Given the description of an element on the screen output the (x, y) to click on. 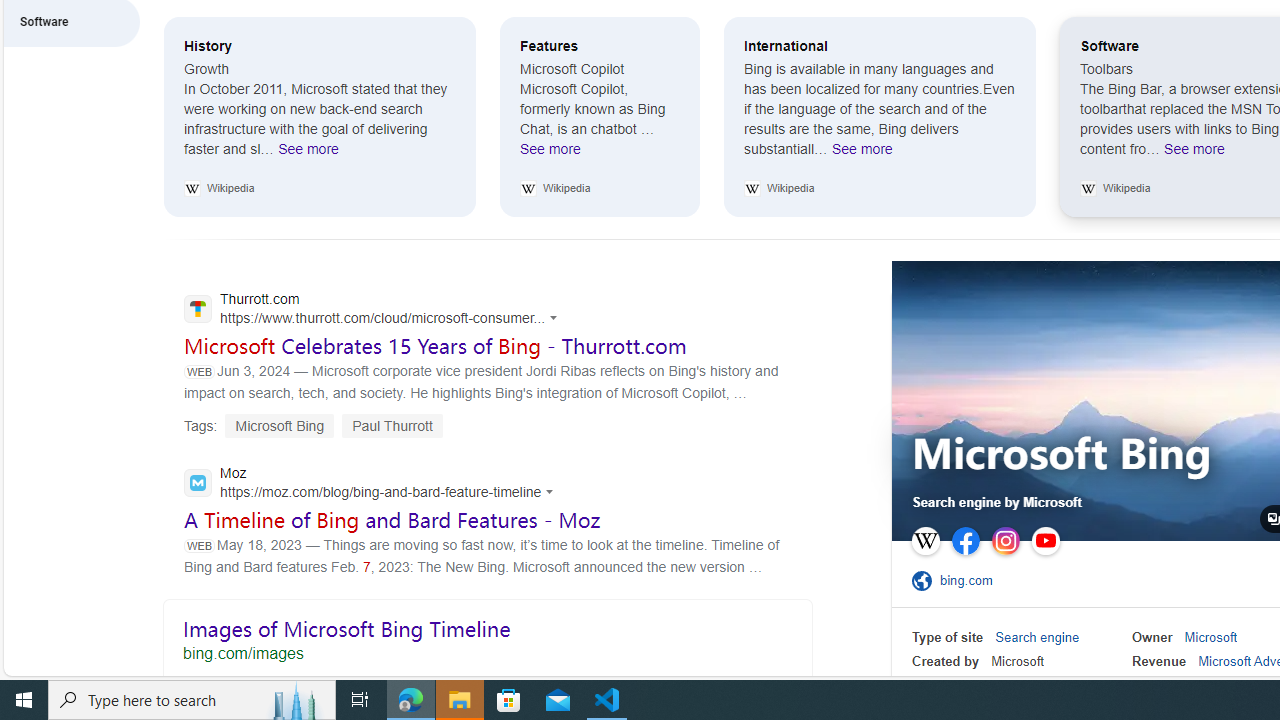
Owner (1151, 637)
Instagram (1006, 541)
Wikipedia (925, 541)
See more (1088, 187)
YouTube (1045, 541)
Microsoft Celebrates 15 Years of Bing - Thurrott.com (435, 345)
See more Features (550, 153)
Type of site (947, 637)
Moz (374, 484)
Revenue (1158, 660)
Images of Microsoft Bing Timeline (487, 636)
Created by (945, 660)
Actions for this site (552, 491)
